Given the description of an element on the screen output the (x, y) to click on. 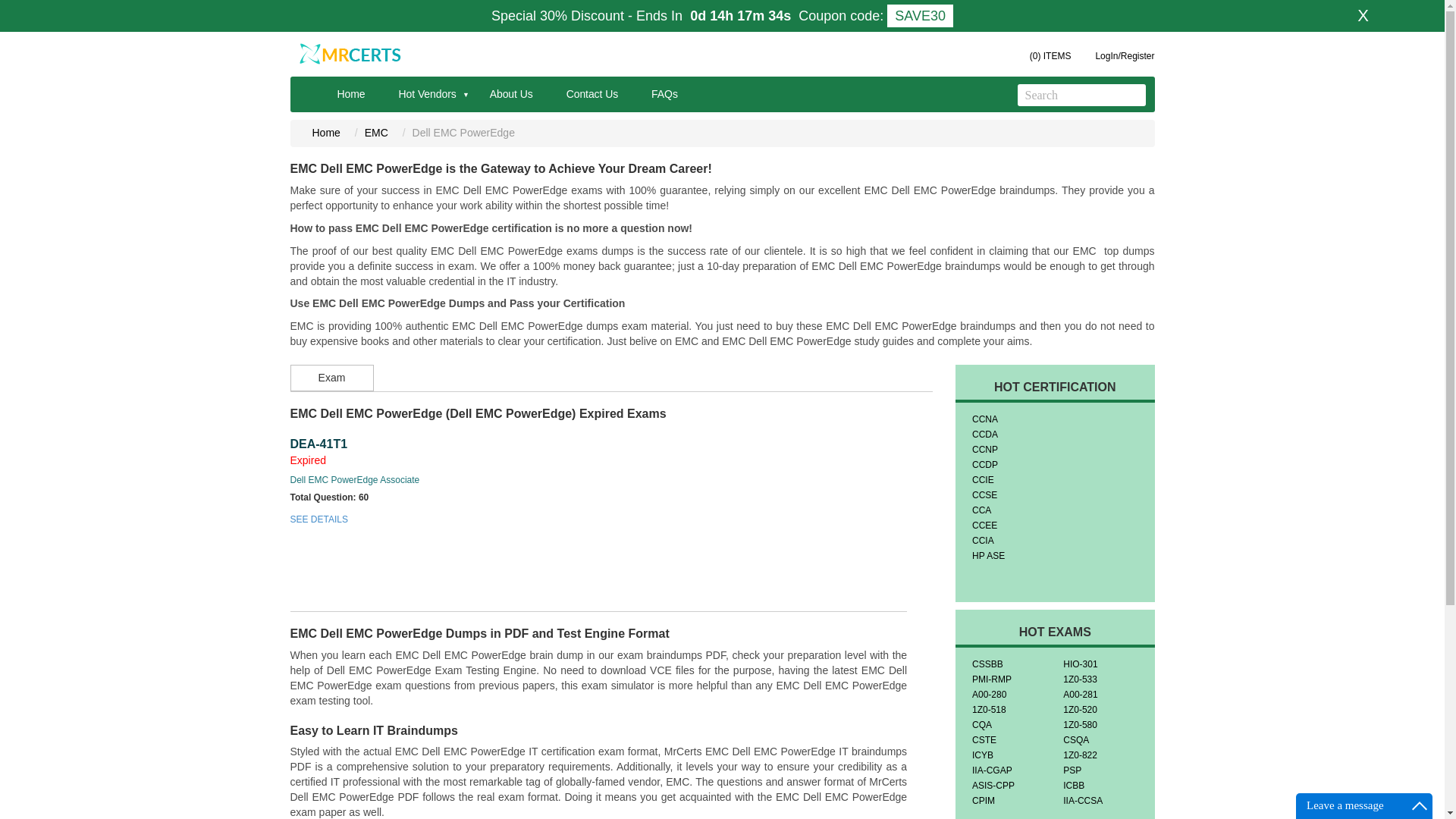
FAQs (664, 89)
CCA (981, 510)
Home (350, 89)
CCDP (984, 464)
Home (326, 132)
A00-280 (989, 694)
HIO-301 (1079, 664)
CCSE (984, 494)
CCIE (983, 480)
1Z0-518 (989, 709)
CCNP (984, 449)
SEE DETAILS (318, 519)
CCDA (984, 434)
Exam (330, 377)
EMC (376, 132)
